Given the description of an element on the screen output the (x, y) to click on. 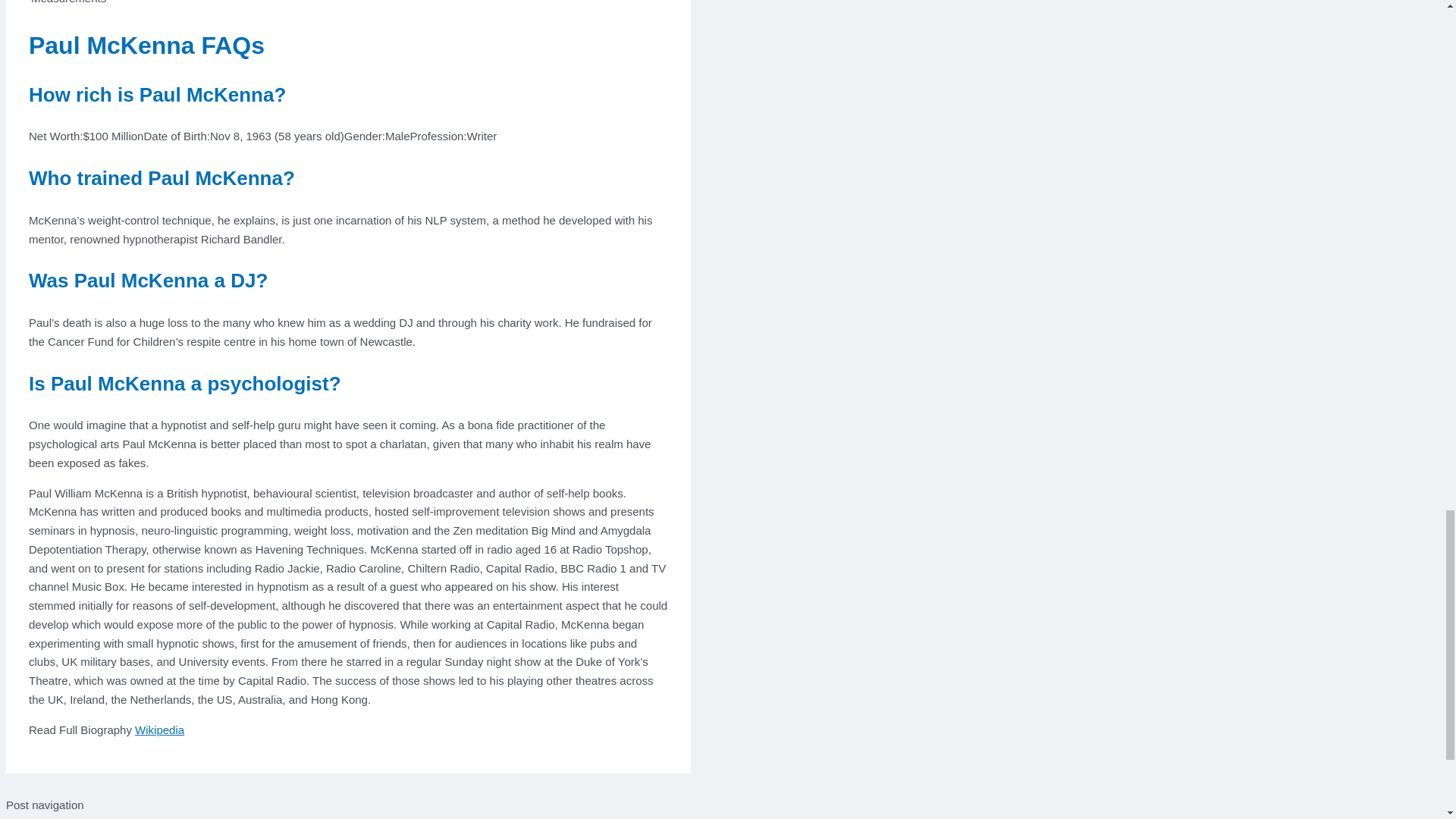
Shania Twain (47, 818)
Wikipedia (159, 729)
